Given the description of an element on the screen output the (x, y) to click on. 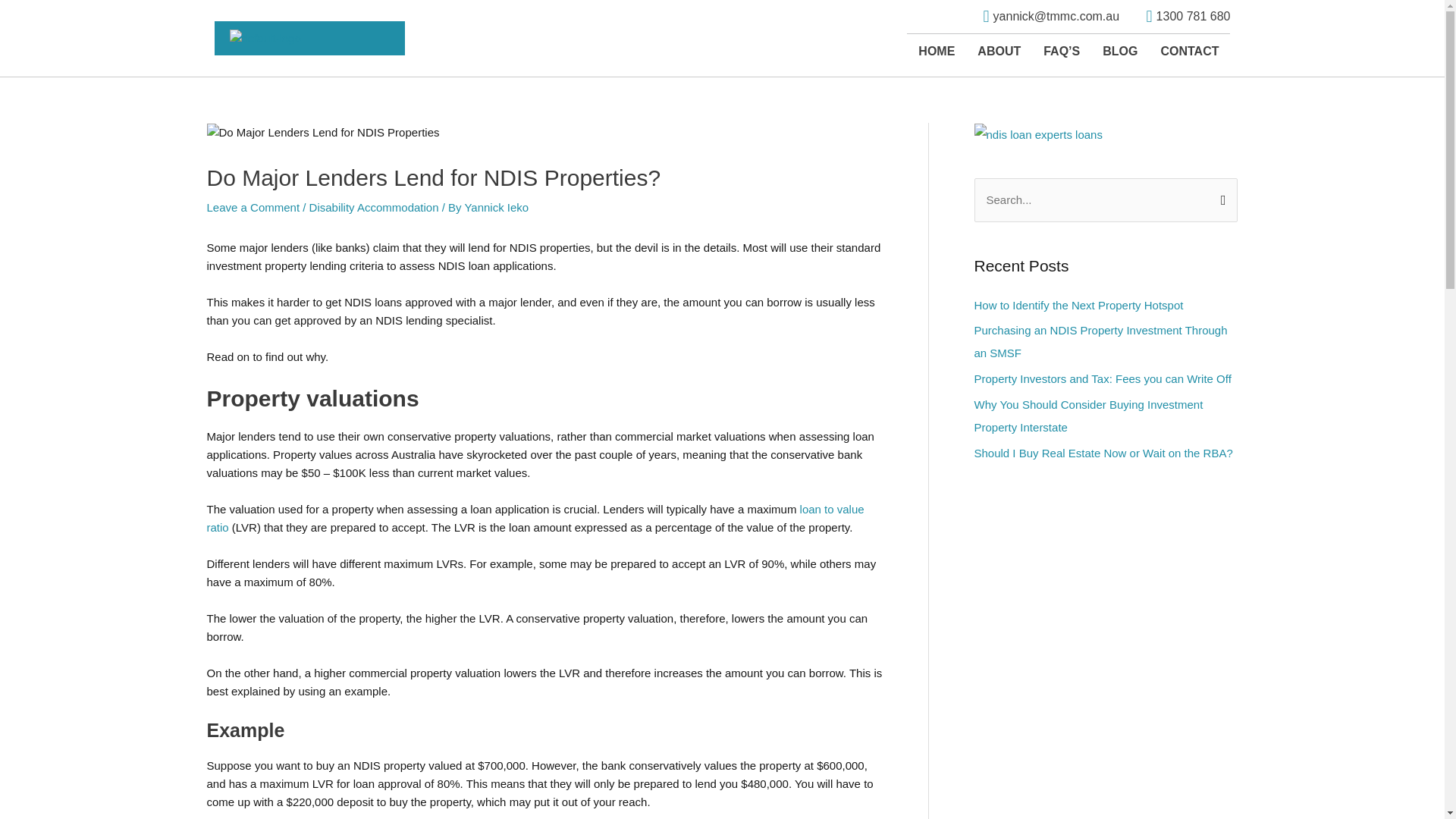
Search (1219, 193)
View all posts by Yannick Ieko (496, 206)
Yannick Ieko (496, 206)
loan to value ratio (534, 517)
Should I Buy Real Estate Now or Wait on the RBA? (1102, 452)
Leave a Comment (252, 206)
HOME (936, 51)
Search (1219, 193)
CONTACT (1189, 51)
Property Investors and Tax: Fees you can Write Off (1102, 378)
